Given the description of an element on the screen output the (x, y) to click on. 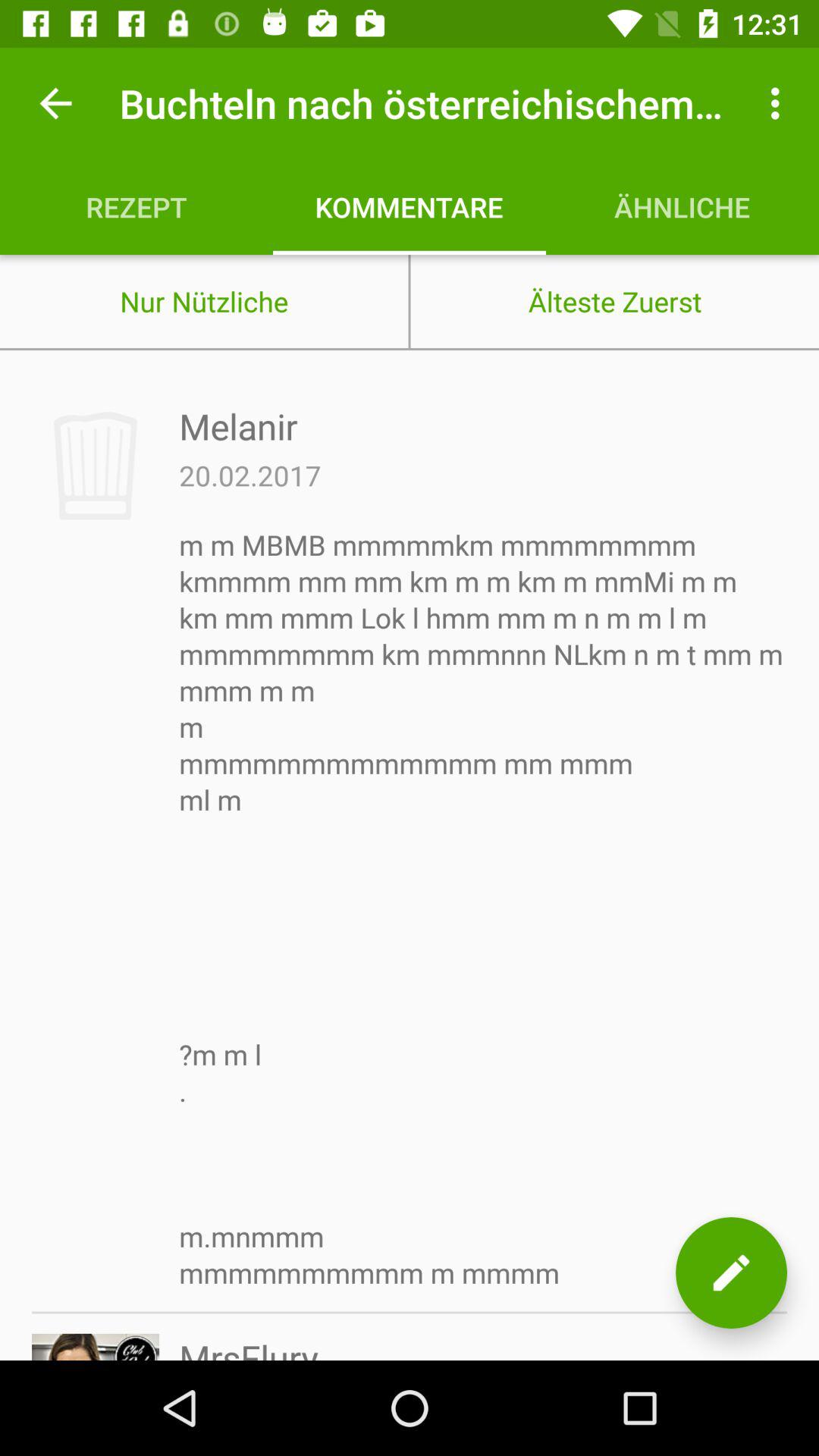
launch item above rezept (55, 103)
